Given the description of an element on the screen output the (x, y) to click on. 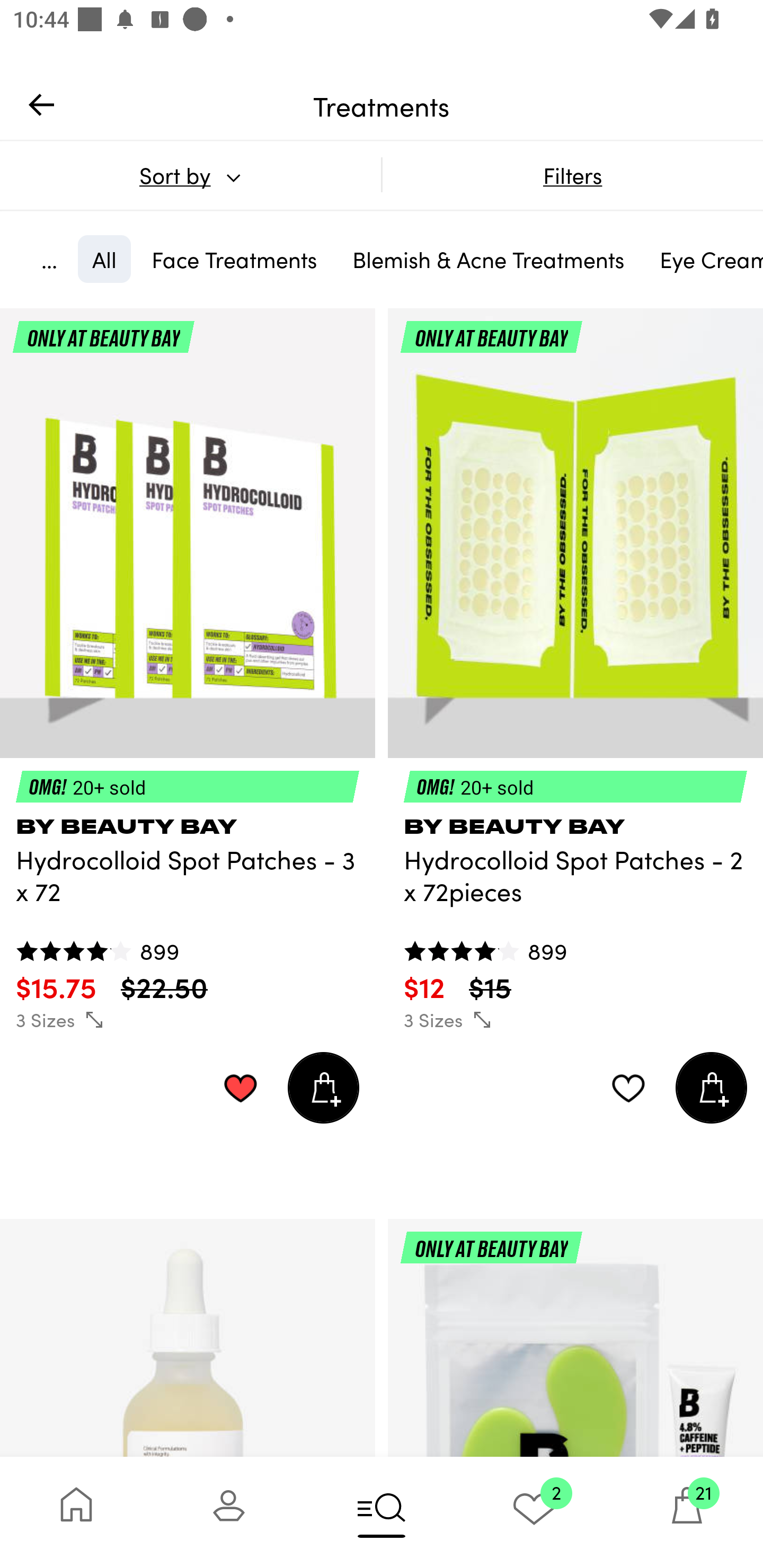
Sort by (190, 174)
Filters (572, 174)
... (48, 258)
All (104, 258)
Face Treatments (234, 258)
Blemish & Acne Treatments (488, 258)
Eye Creams & Treatments (704, 258)
2 (533, 1512)
21 (686, 1512)
